Given the description of an element on the screen output the (x, y) to click on. 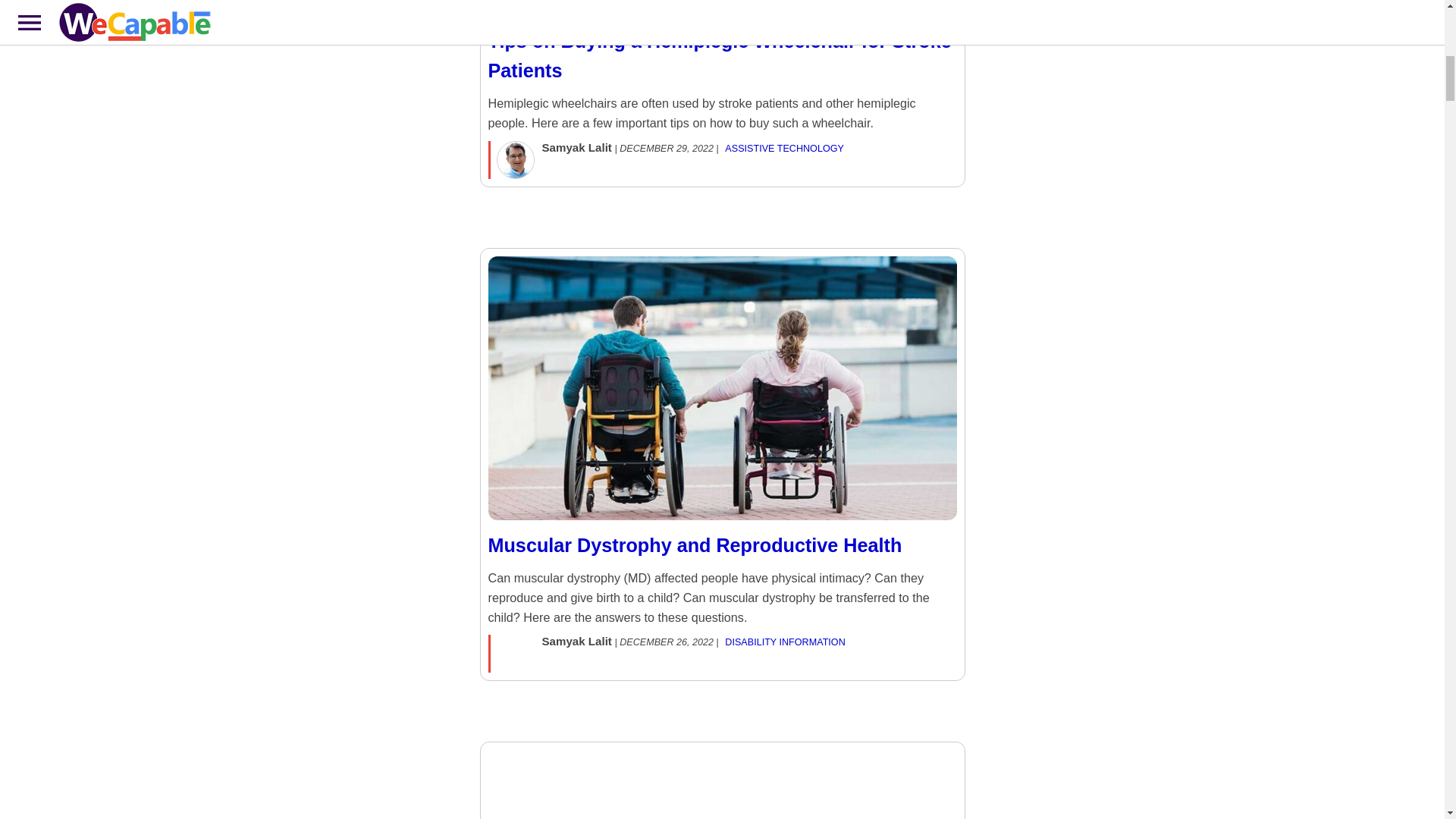
DISABILITY INFORMATION (784, 641)
Muscular Dystrophy and Reproductive Health (721, 559)
ASSISTIVE TECHNOLOGY (784, 148)
Tips on Buying a Hemiplegic Wheelchair for Stroke Patients (721, 70)
